Given the description of an element on the screen output the (x, y) to click on. 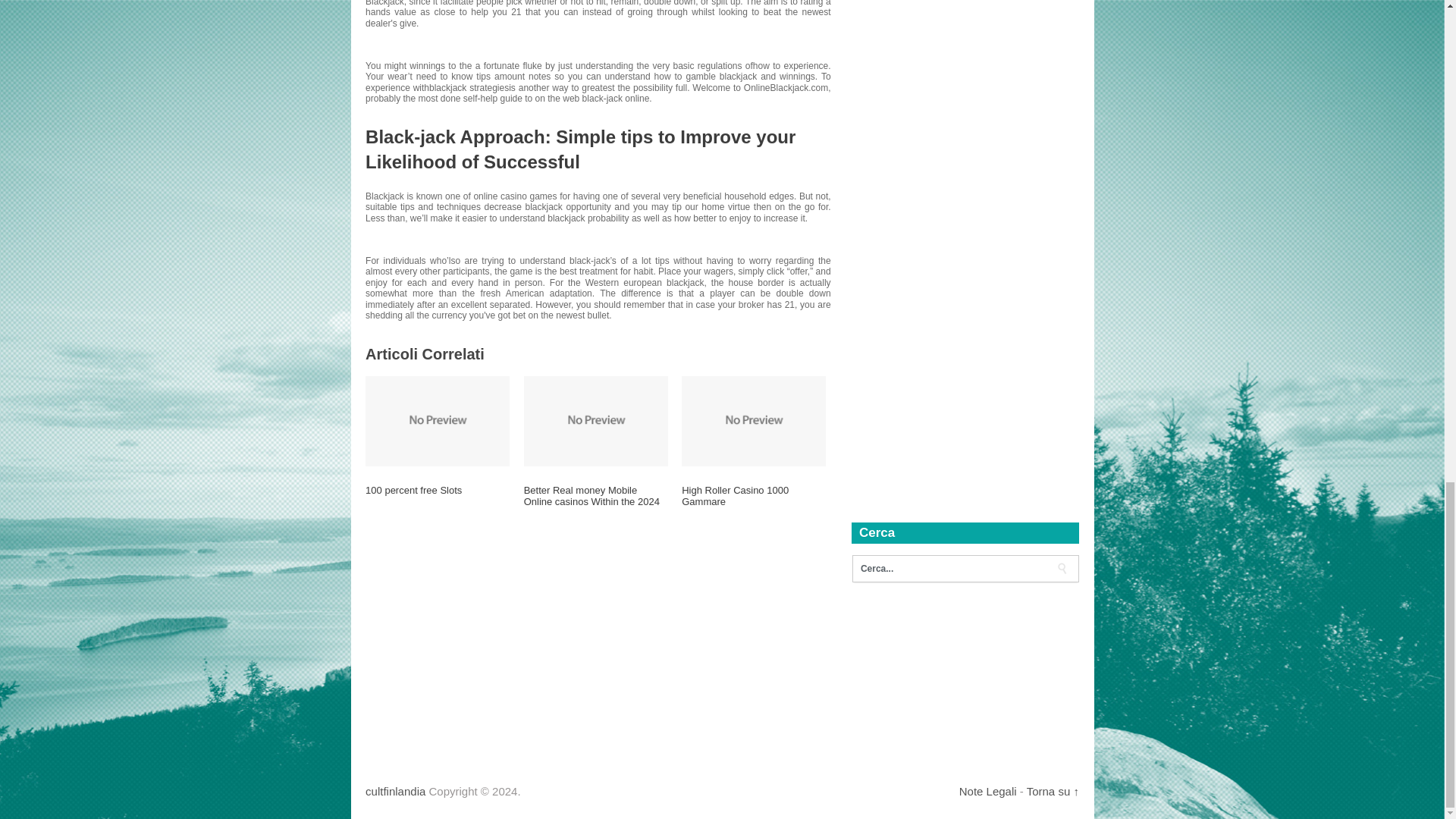
Note Legali (987, 790)
Better Real money Mobile Online casinos Within the 2024 (596, 502)
100 percent free Slots (437, 496)
Better Real money Mobile Online casinos Within the 2024 (596, 502)
High Roller Casino 1000 Gammare (753, 502)
cultfinlandia (395, 790)
note legali (987, 790)
100 percent free Slots (437, 496)
High Roller Casino 1000 Gammare (753, 502)
